Given the description of an element on the screen output the (x, y) to click on. 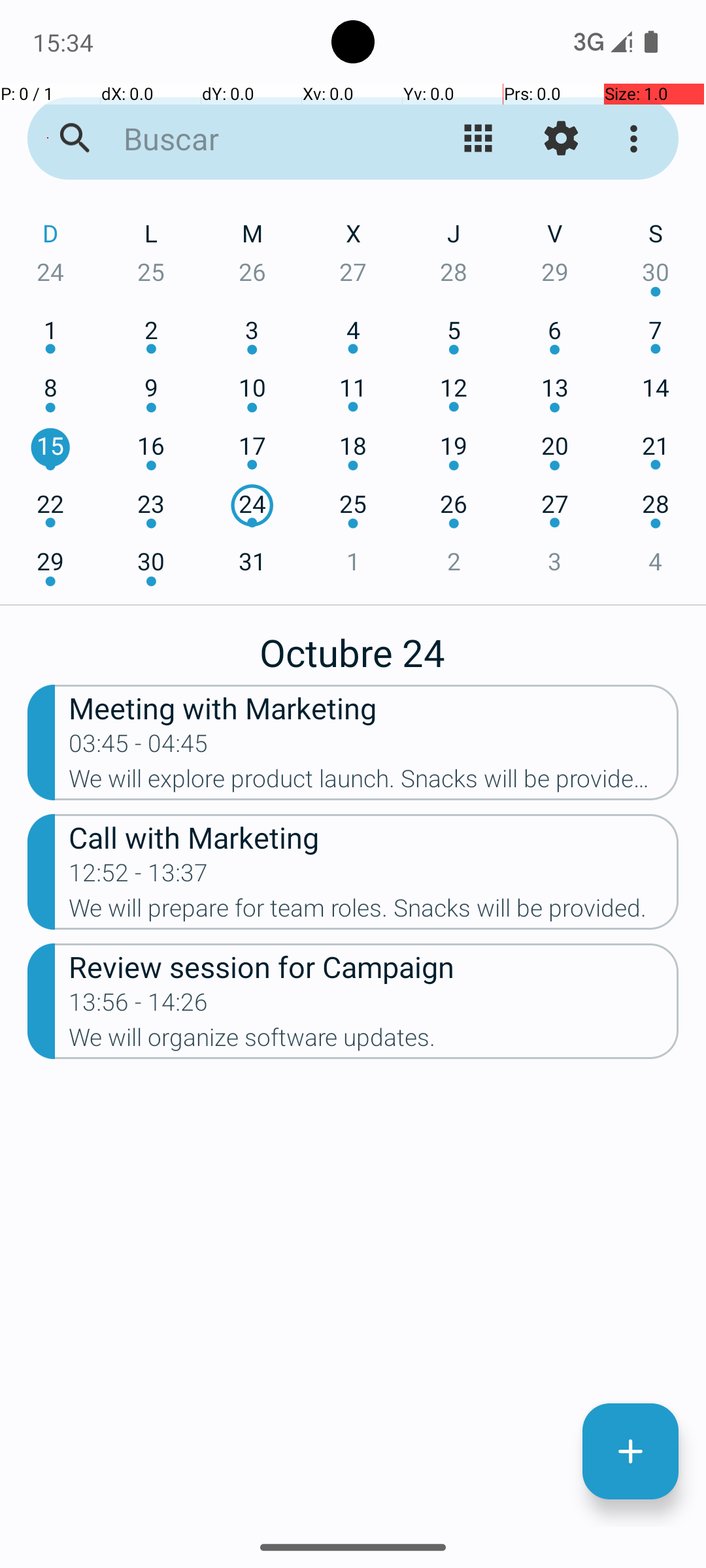
Octubre 24 Element type: android.widget.TextView (352, 644)
Meeting with Marketing Element type: android.widget.TextView (373, 706)
03:45 - 04:45 Element type: android.widget.TextView (137, 747)
We will explore product launch. Snacks will be provided. Element type: android.widget.TextView (373, 782)
Call with Marketing Element type: android.widget.TextView (373, 836)
12:52 - 13:37 Element type: android.widget.TextView (137, 876)
We will prepare for team roles. Snacks will be provided. Element type: android.widget.TextView (373, 911)
13:56 - 14:26 Element type: android.widget.TextView (137, 1005)
We will organize software updates. Element type: android.widget.TextView (373, 1041)
